Given the description of an element on the screen output the (x, y) to click on. 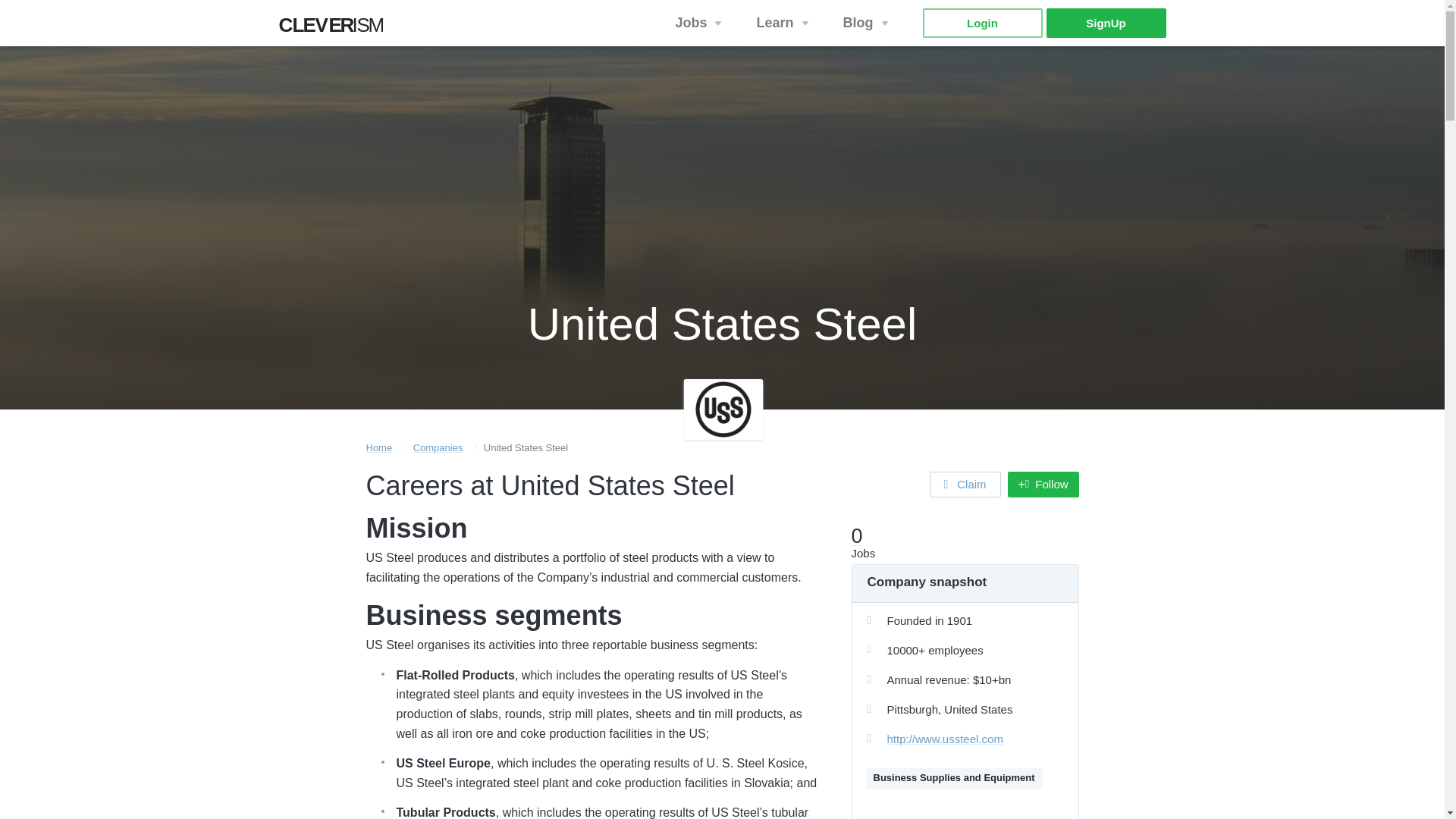
Login (981, 22)
Home (378, 447)
Blog (336, 28)
Companies (867, 22)
Claim (438, 447)
Jobs (965, 484)
SignUp (700, 22)
Business Supplies and Equipment (1106, 22)
Learn (954, 778)
